Given the description of an element on the screen output the (x, y) to click on. 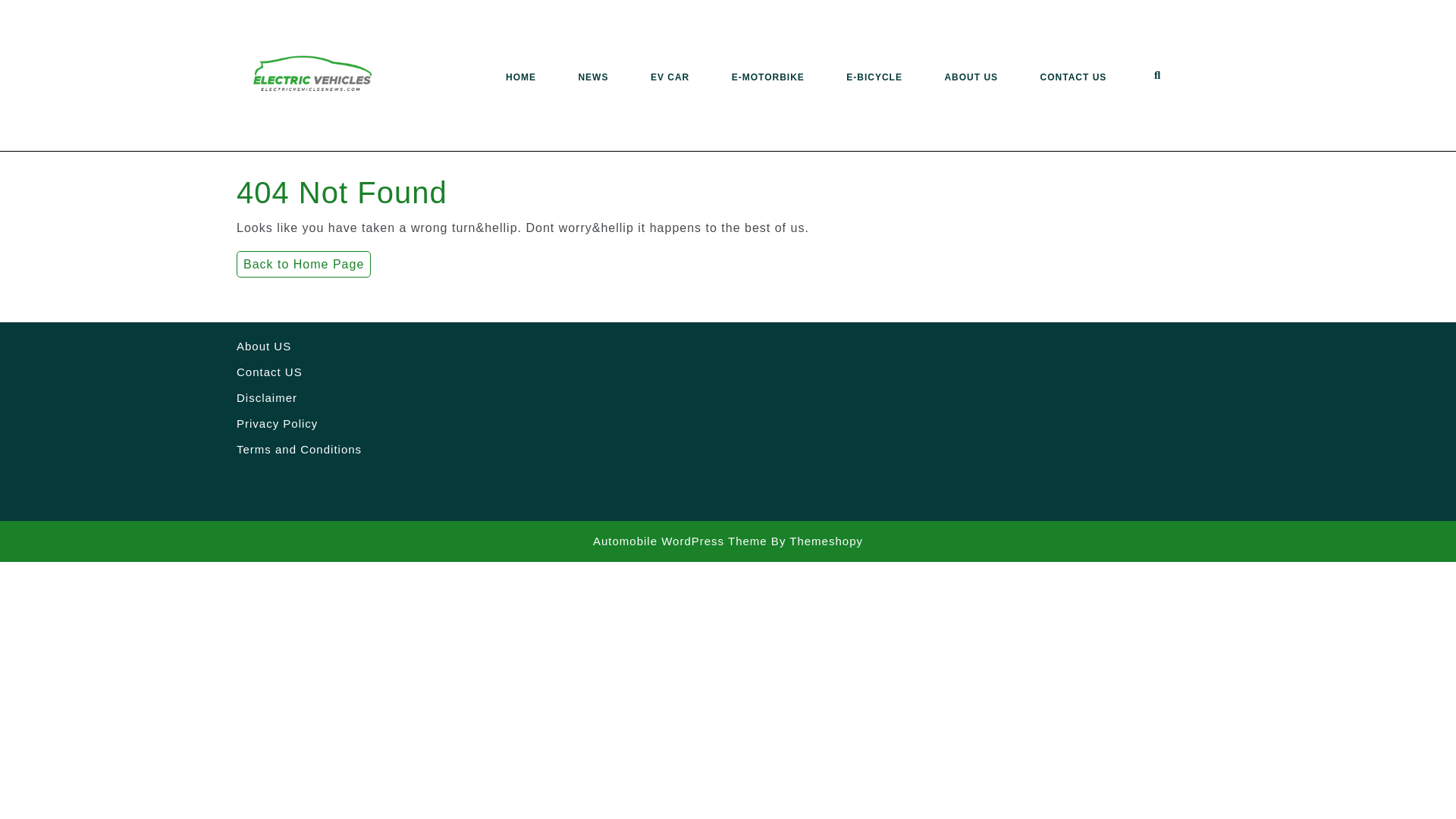
About US (263, 345)
Search (1164, 77)
E-MOTORBIKE (768, 77)
ABOUT US (970, 77)
Back to Home Page (303, 263)
Disclaimer (266, 397)
NEWS (593, 77)
Privacy Policy (276, 422)
EV CAR (669, 77)
HOME (520, 77)
Contact US (268, 371)
CONTACT US (1073, 77)
Terms and Conditions (298, 449)
E-BICYCLE (874, 77)
Automobile WordPress Theme (679, 540)
